Given the description of an element on the screen output the (x, y) to click on. 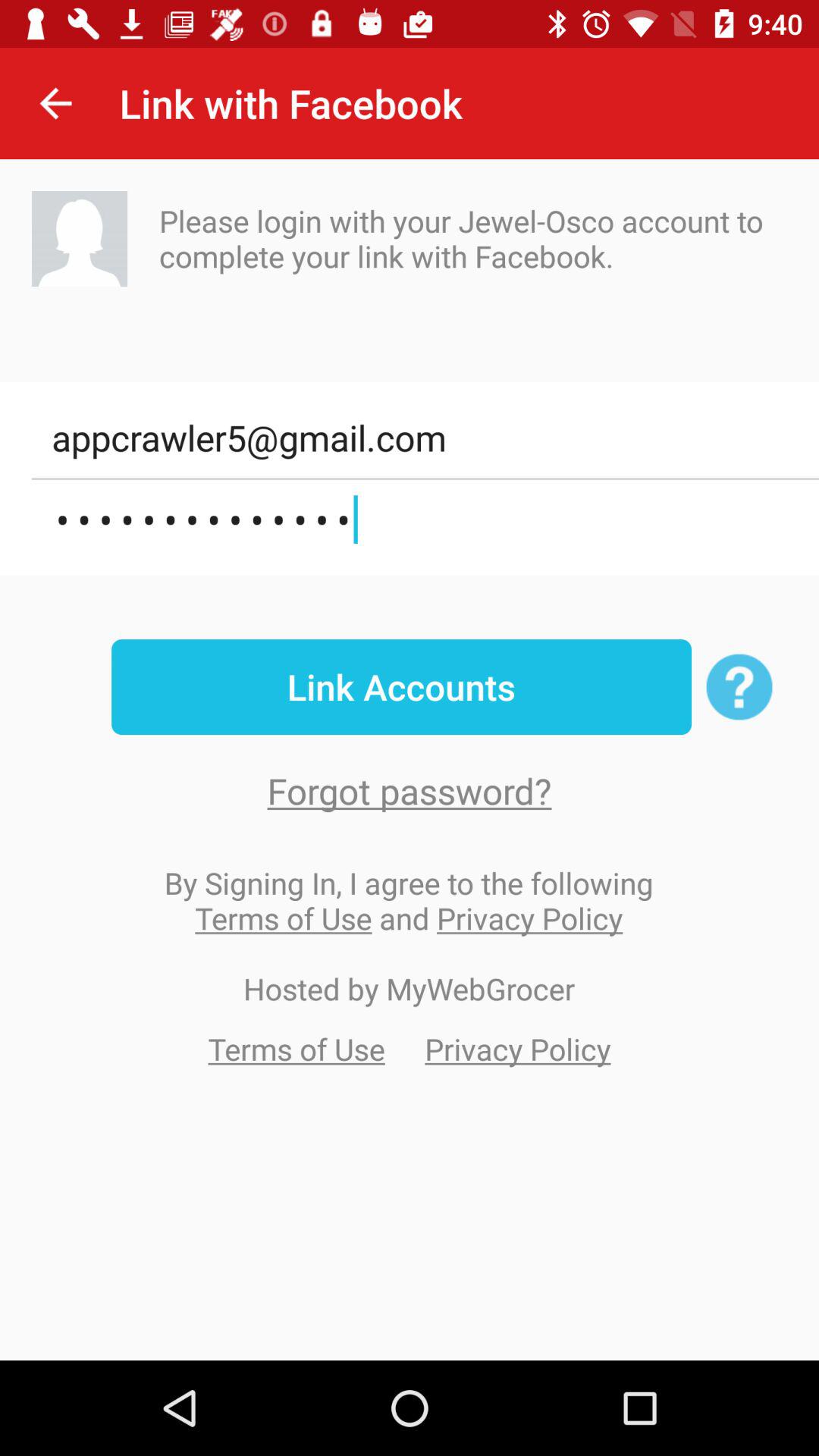
launch icon above link accounts (425, 519)
